Given the description of an element on the screen output the (x, y) to click on. 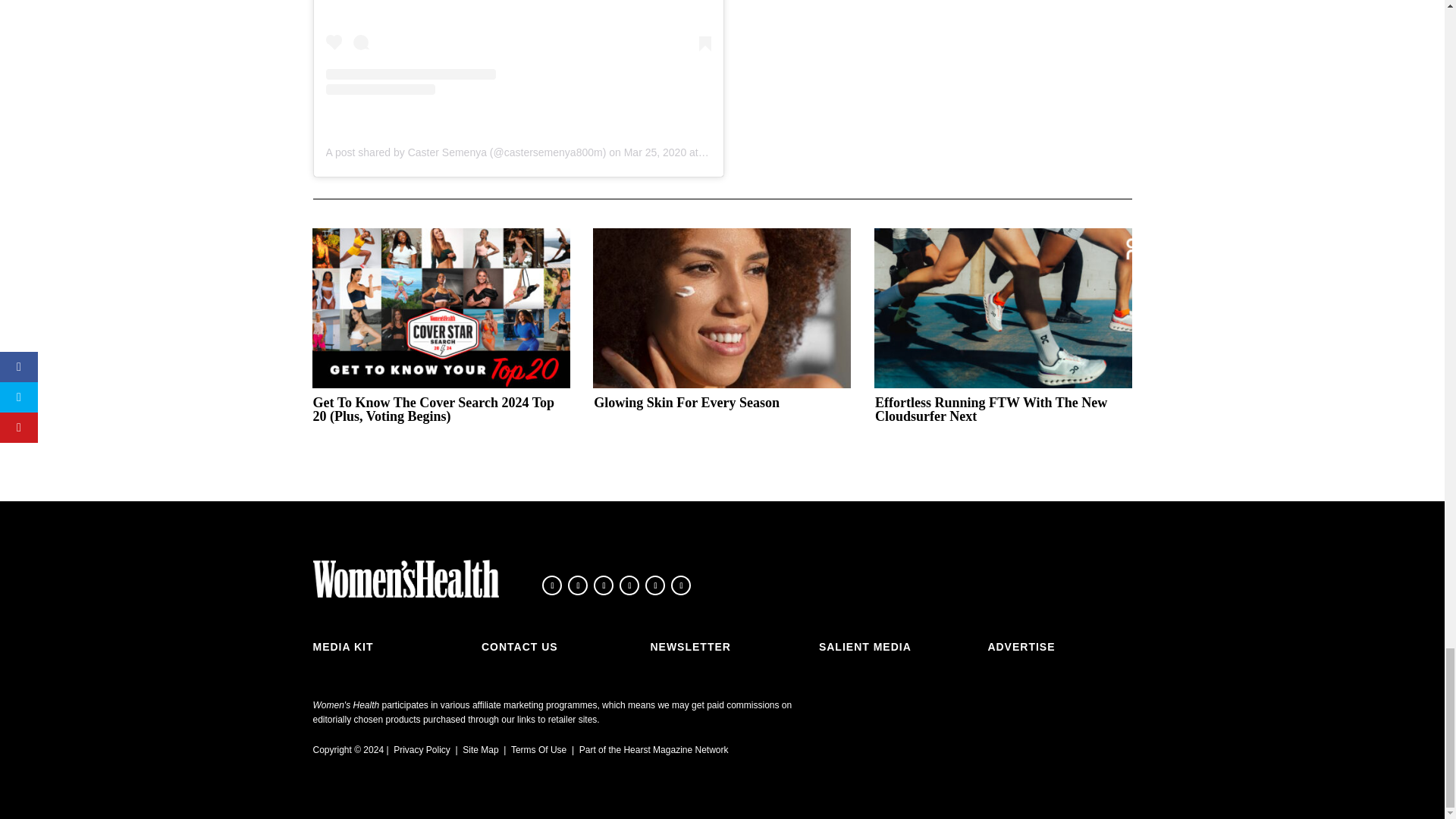
Follow on Facebook (551, 585)
Follow on TikTok (629, 585)
Follow on Instagram (603, 585)
Follow on Pinterest (680, 585)
Follow on X (577, 585)
Follow on Youtube (655, 585)
